Given the description of an element on the screen output the (x, y) to click on. 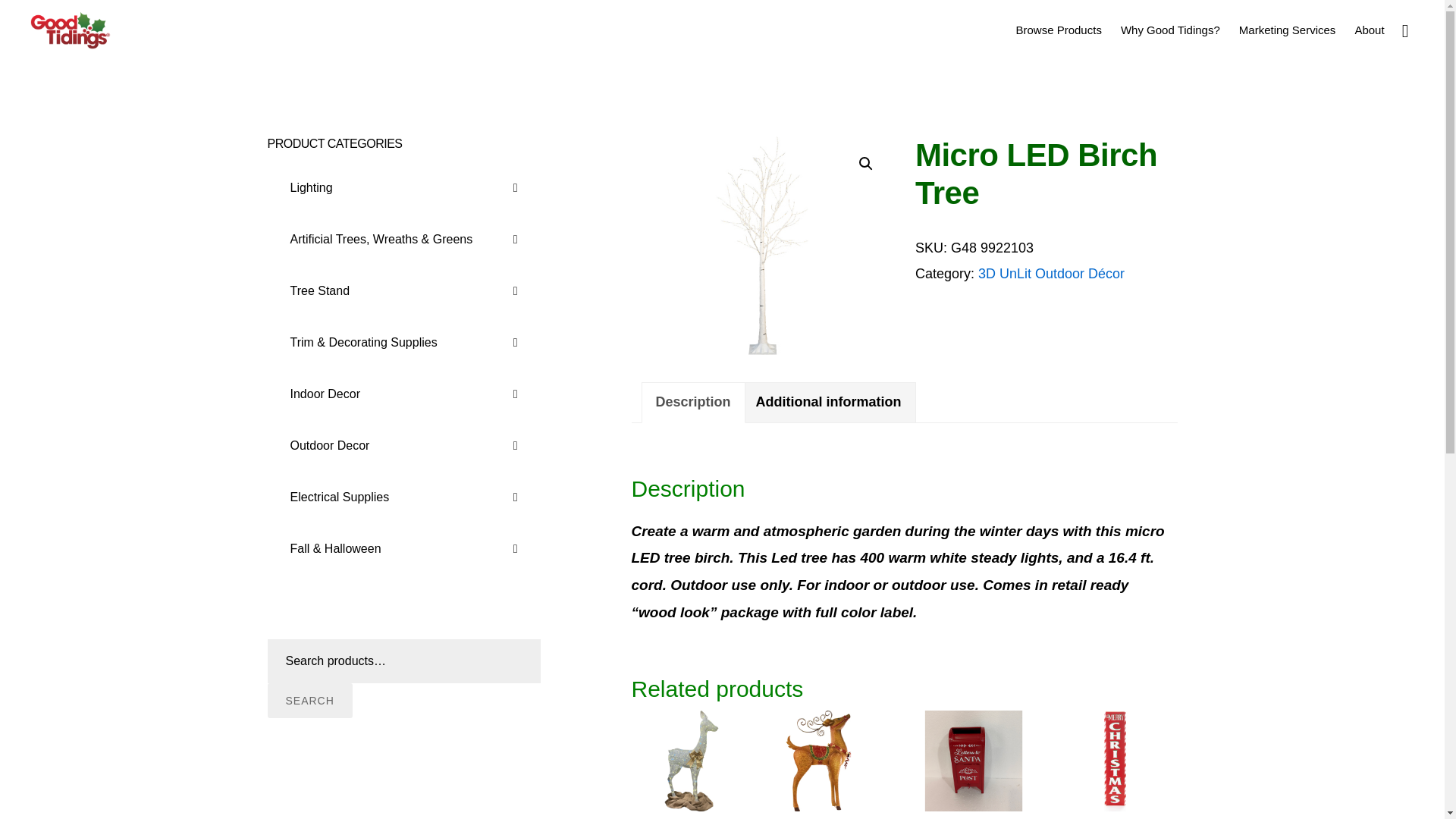
About (1368, 29)
Why Good Tidings? (1170, 29)
P45188.jpg (761, 245)
Additional information (828, 402)
Glimmer Crystal Lattice Reindeer Doe (690, 764)
Description (693, 402)
Marketing Services (1287, 29)
Standing Deer (833, 764)
Browse Products (1059, 29)
